Given the description of an element on the screen output the (x, y) to click on. 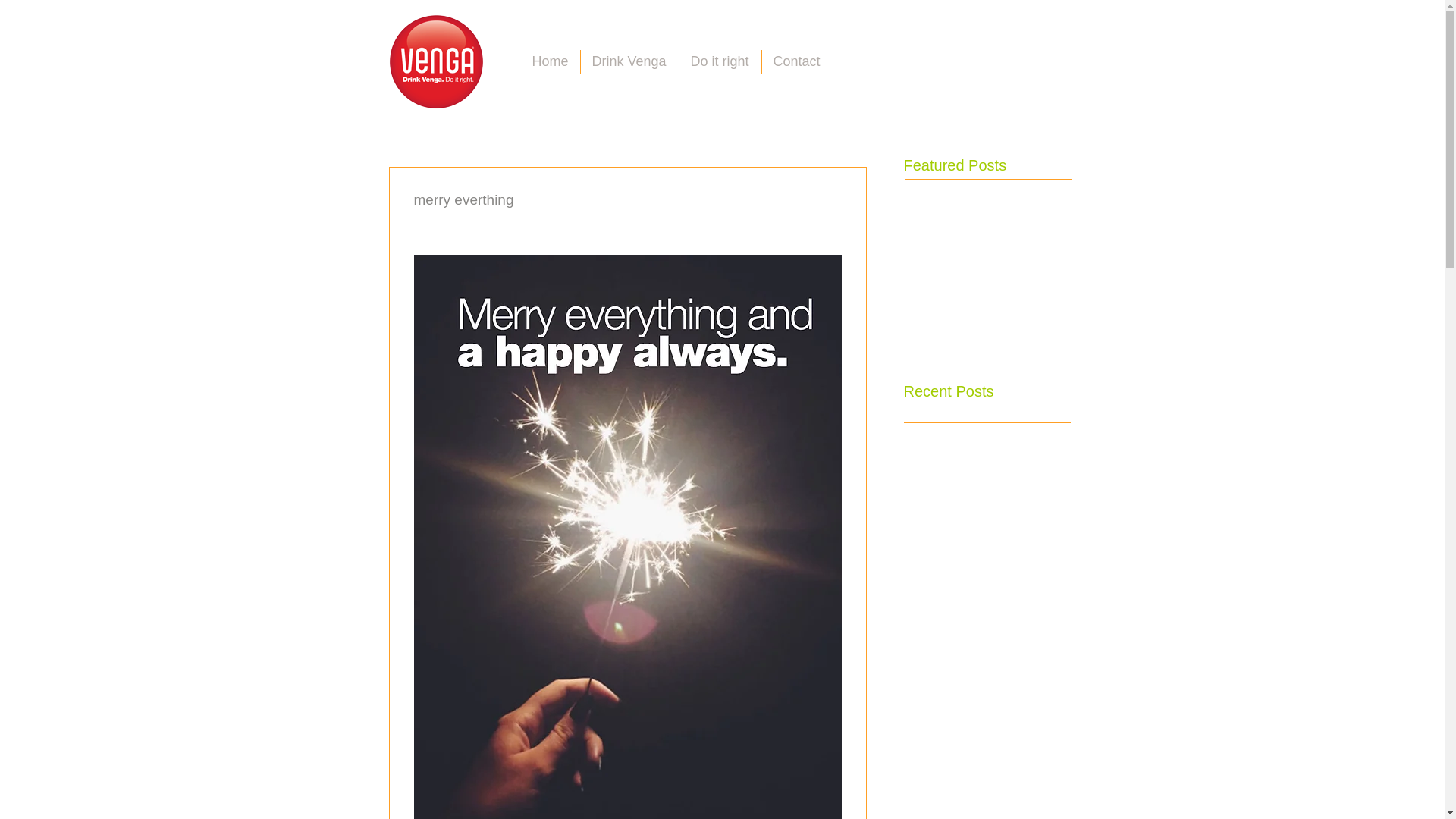
Drink Venga (629, 61)
Home (549, 61)
Contact (796, 61)
Do it right (720, 61)
